Given the description of an element on the screen output the (x, y) to click on. 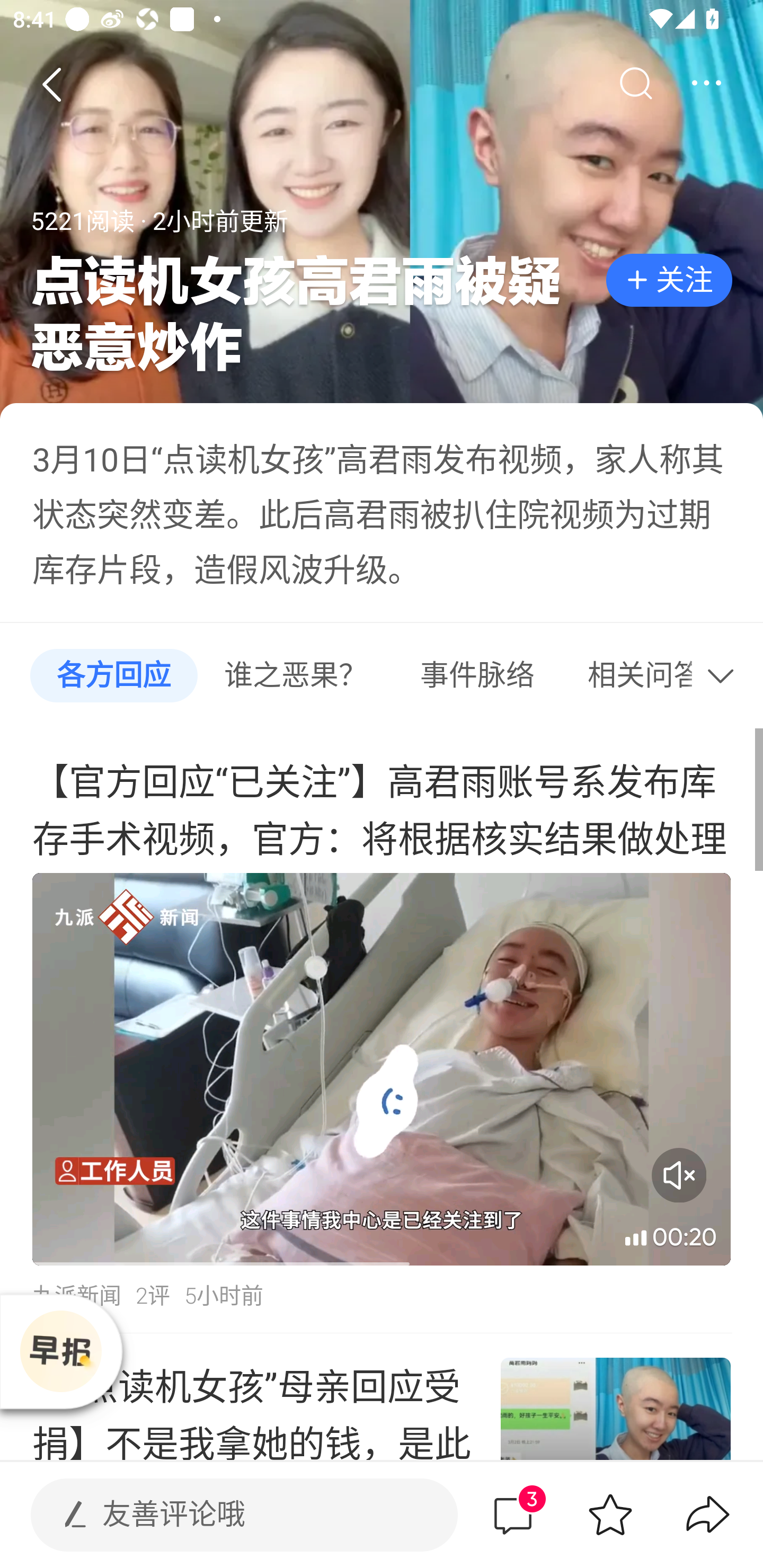
 (50, 83)
 (634, 83)
 (705, 83)
 关注 (668, 280)
各方回应 (113, 675)
谁之恶果？ (295, 675)
事件脉络 (476, 675)
相关问答 (627, 675)
 (724, 675)
音量开关 (678, 1174)
播放器 (60, 1351)
发表评论  友善评论哦 发表评论 (228, 1514)
 3 (512, 1514)
收藏  (609, 1514)
分享  (707, 1514)
